Given the description of an element on the screen output the (x, y) to click on. 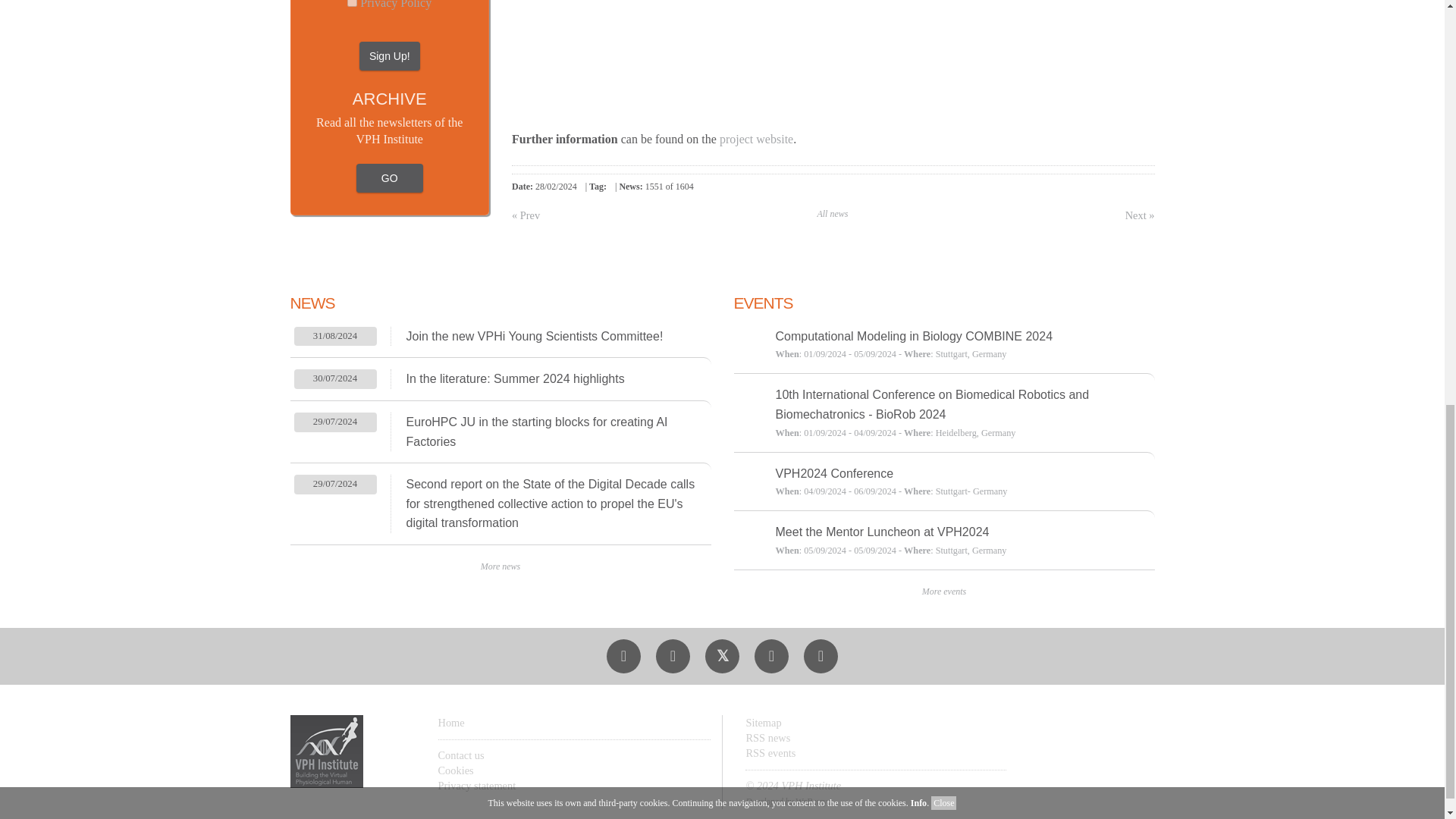
project website (756, 138)
GO (389, 13)
All news (833, 214)
